Given the description of an element on the screen output the (x, y) to click on. 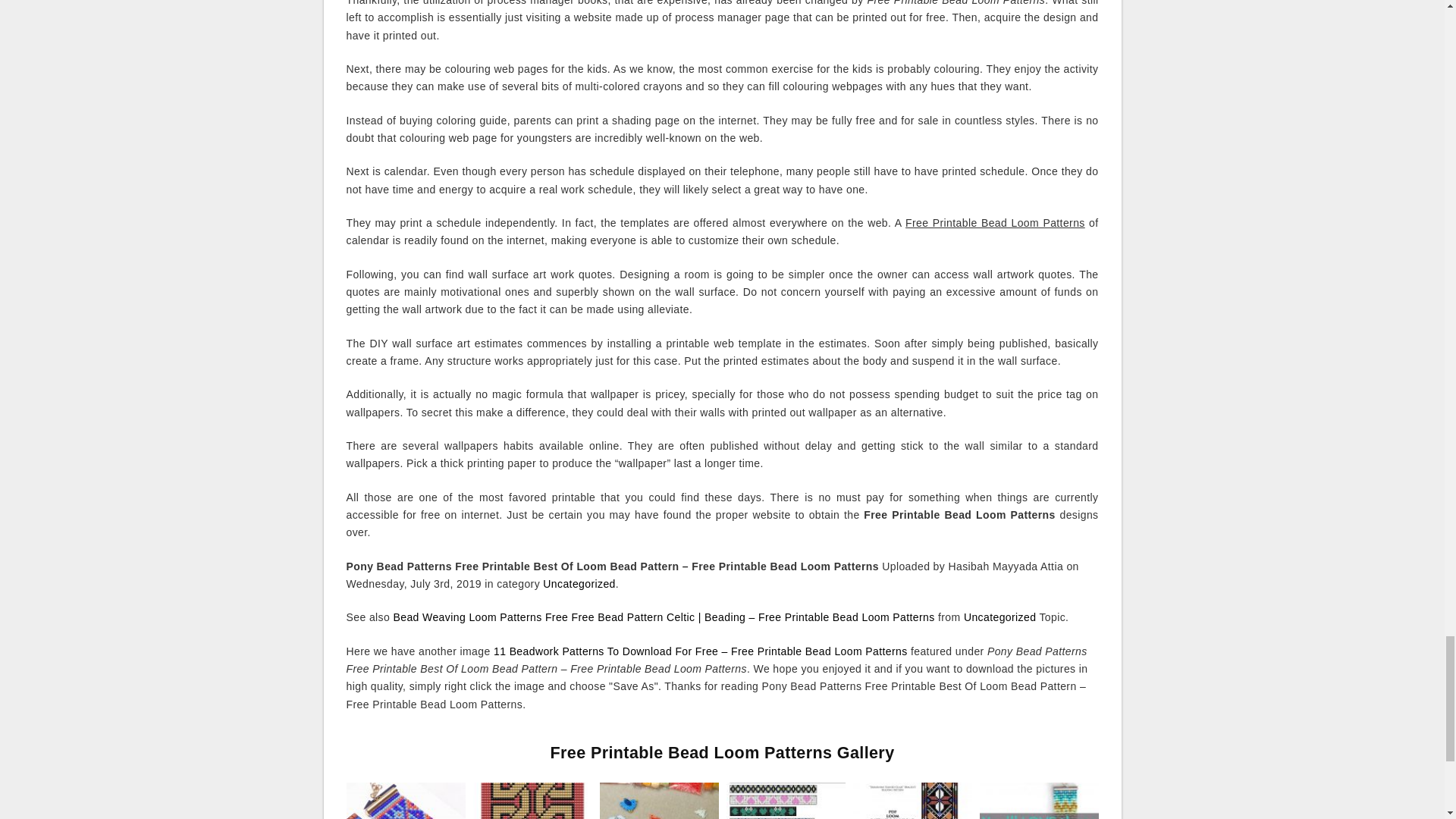
Uncategorized (999, 616)
Uncategorized (578, 583)
